Given the description of an element on the screen output the (x, y) to click on. 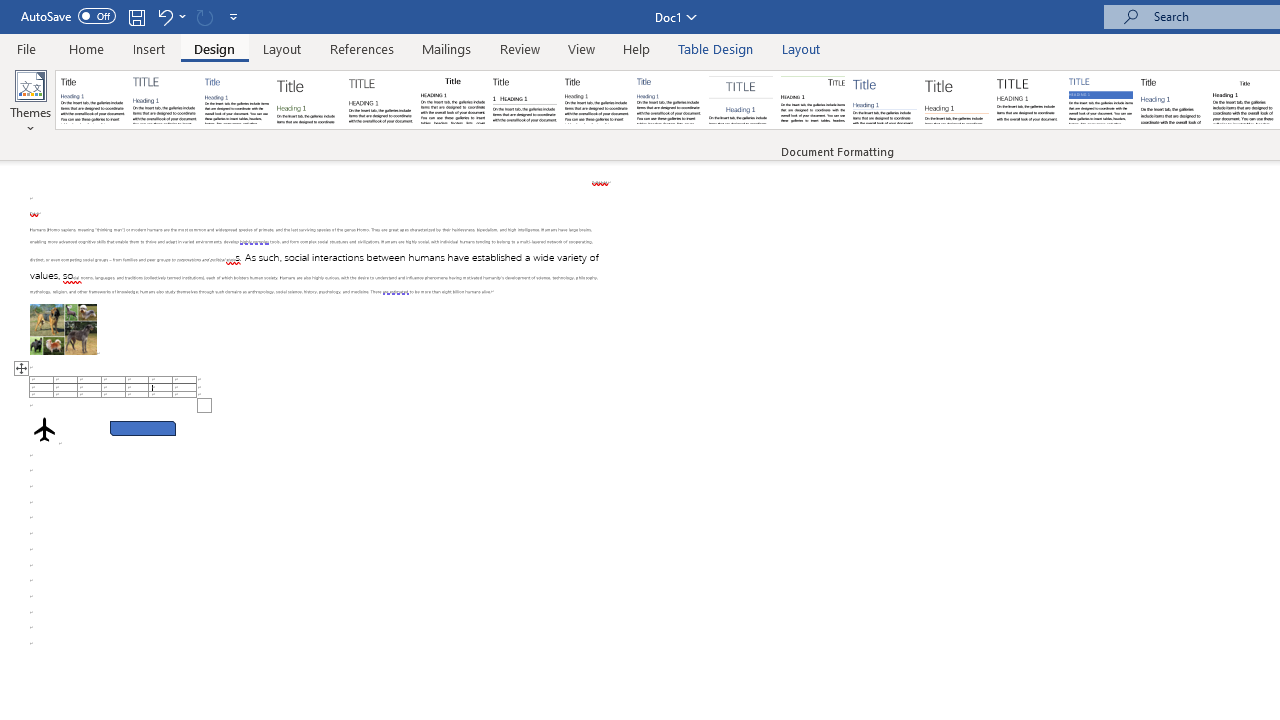
Black & White (Numbered) (524, 100)
Casual (669, 100)
Basic (Stylish) (308, 100)
Basic (Simple) (236, 100)
Black & White (Capitalized) (381, 100)
Lines (Stylish) (957, 100)
Centered (740, 100)
Shaded (1100, 100)
Black & White (Word 2013) (596, 100)
